Given the description of an element on the screen output the (x, y) to click on. 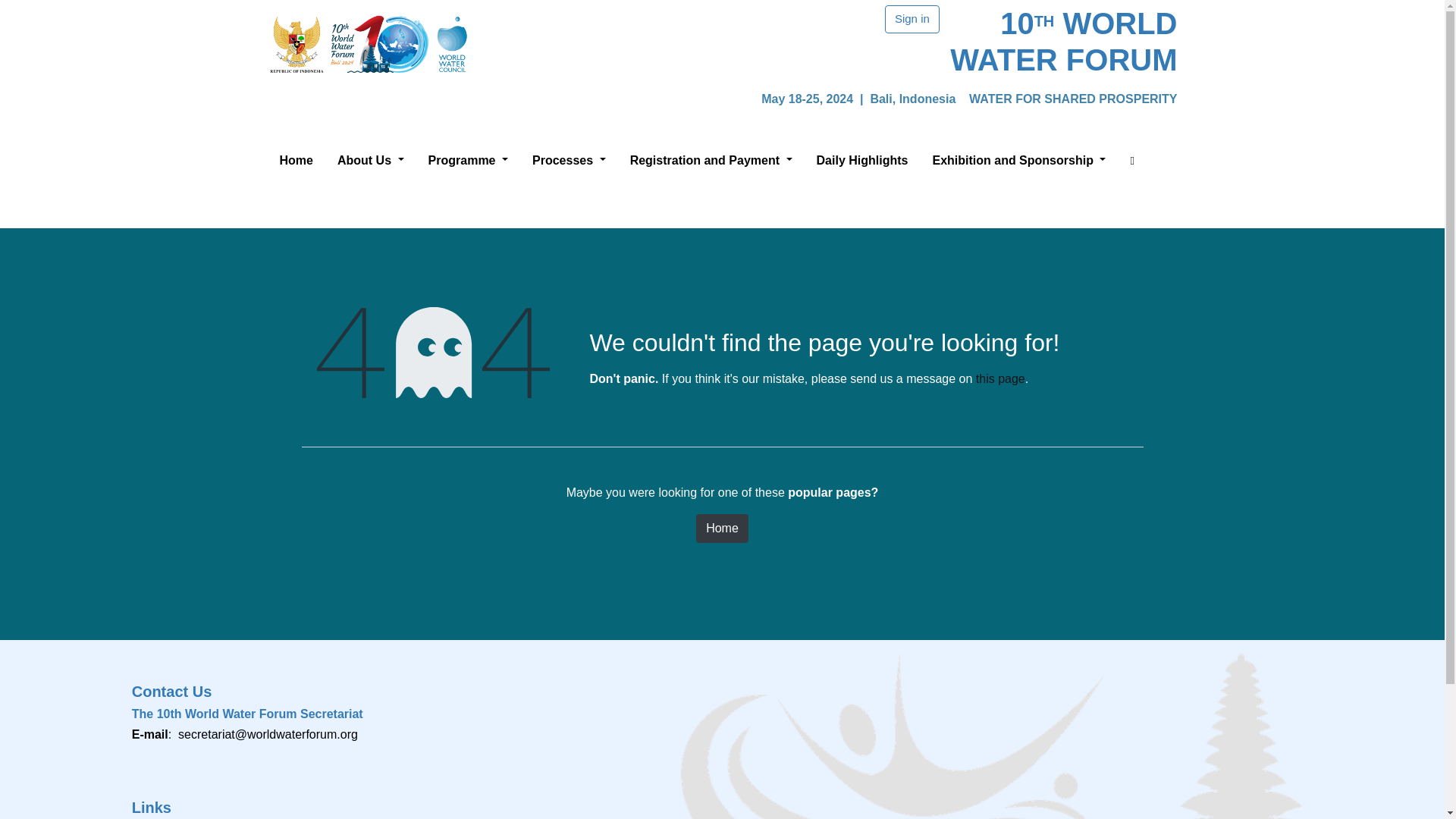
Exhibition and Sponsorship (1018, 163)
About Us (370, 163)
Sign in (912, 18)
Daily Highlights (862, 163)
Programme (468, 163)
Processes (568, 163)
Registration and Payment (711, 163)
